Given the description of an element on the screen output the (x, y) to click on. 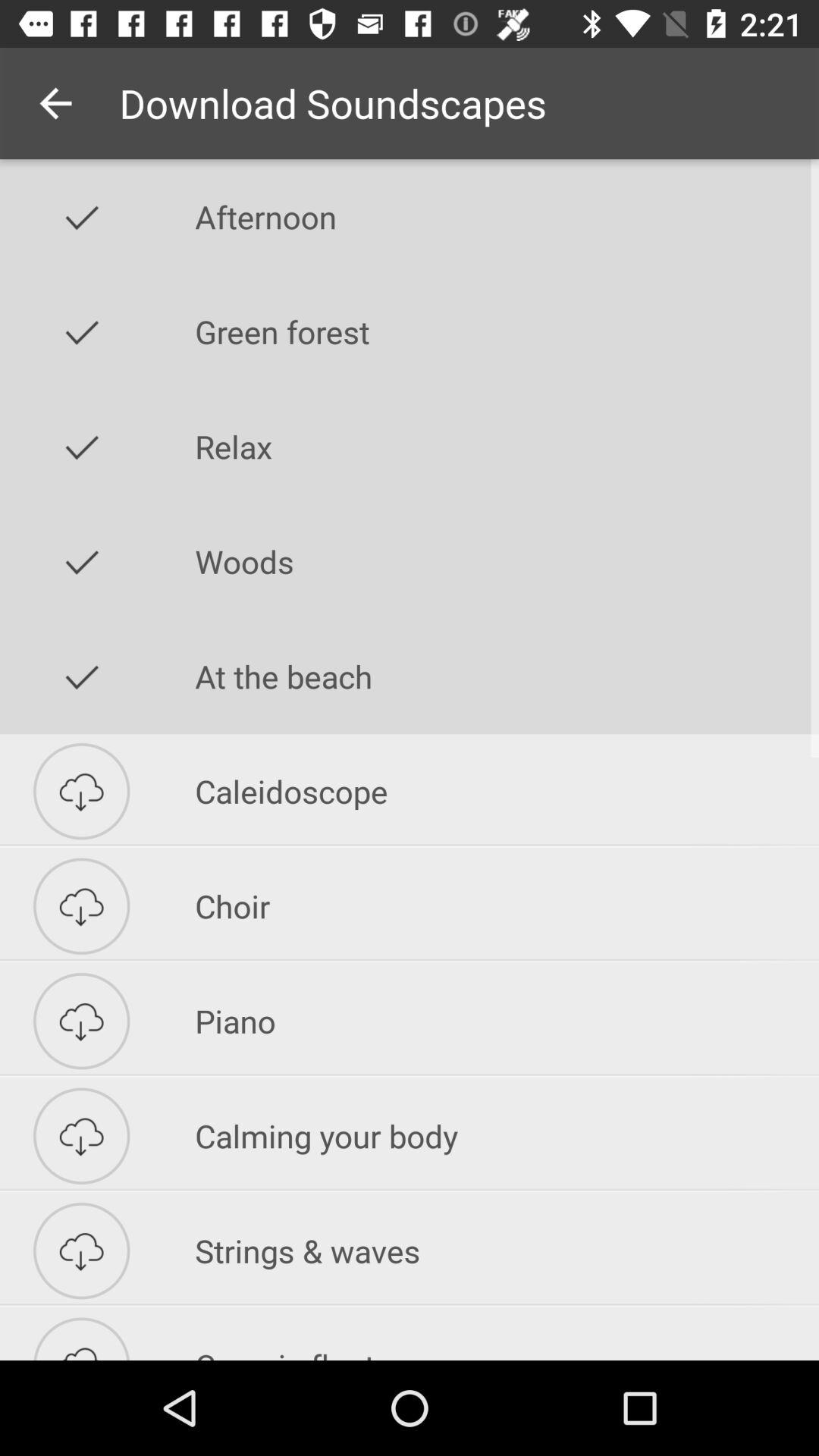
turn off the green forest icon (507, 331)
